Given the description of an element on the screen output the (x, y) to click on. 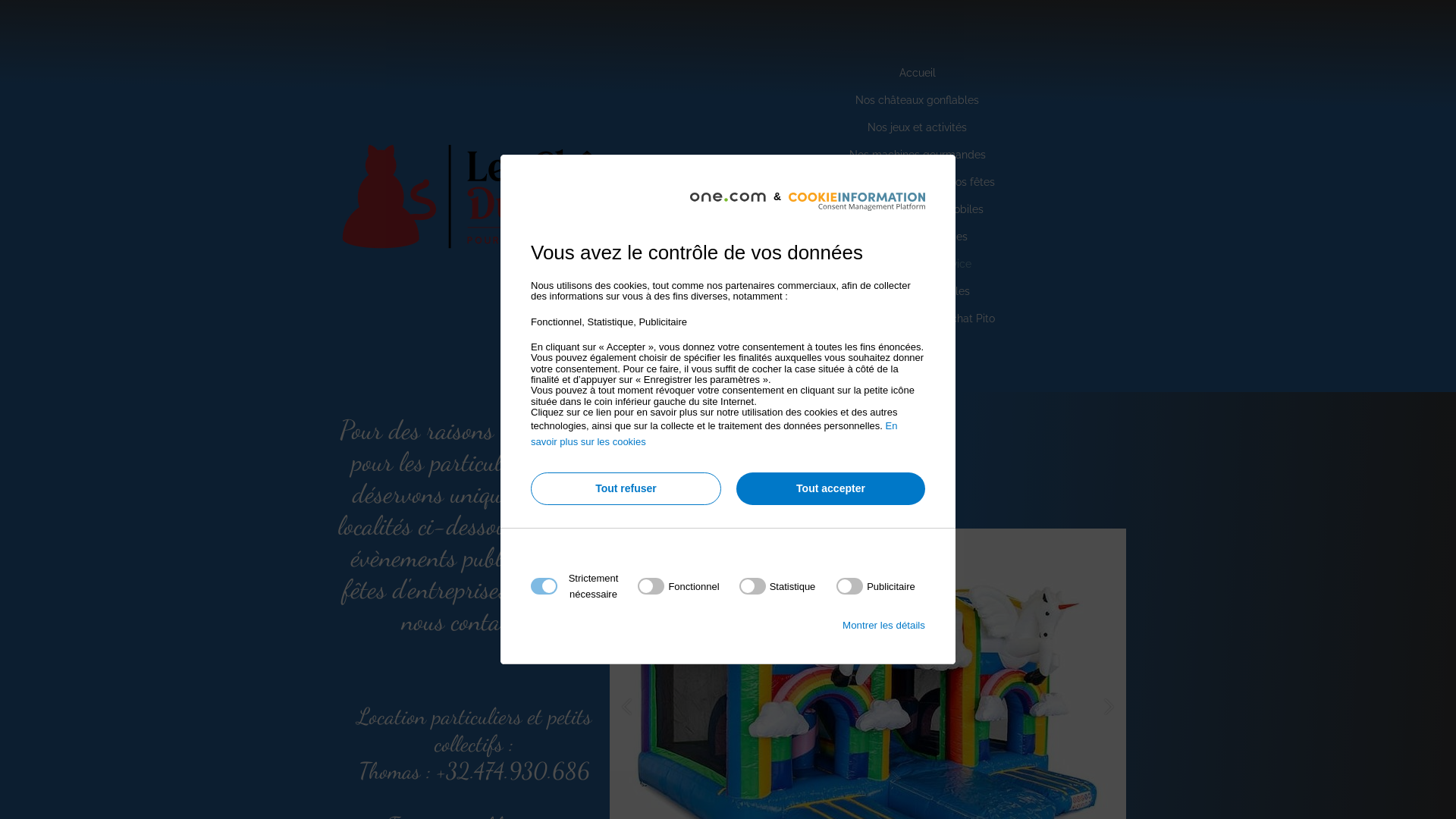
Accueil Element type: text (917, 73)
on Element type: text (777, 586)
on Element type: text (677, 586)
Tout accepter Element type: text (830, 488)
on Element type: text (875, 586)
Chat pito en images Element type: text (917, 237)
Fonctionnel Element type: text (723, 769)
Tout refuser Element type: text (625, 488)
Nos parcs de jeux mobiles Element type: text (917, 209)
Notre zone de service Element type: text (917, 264)
En savoir plus sur les cookies Element type: text (713, 433)
Nos machines gourmandes Element type: text (917, 155)
